Given the description of an element on the screen output the (x, y) to click on. 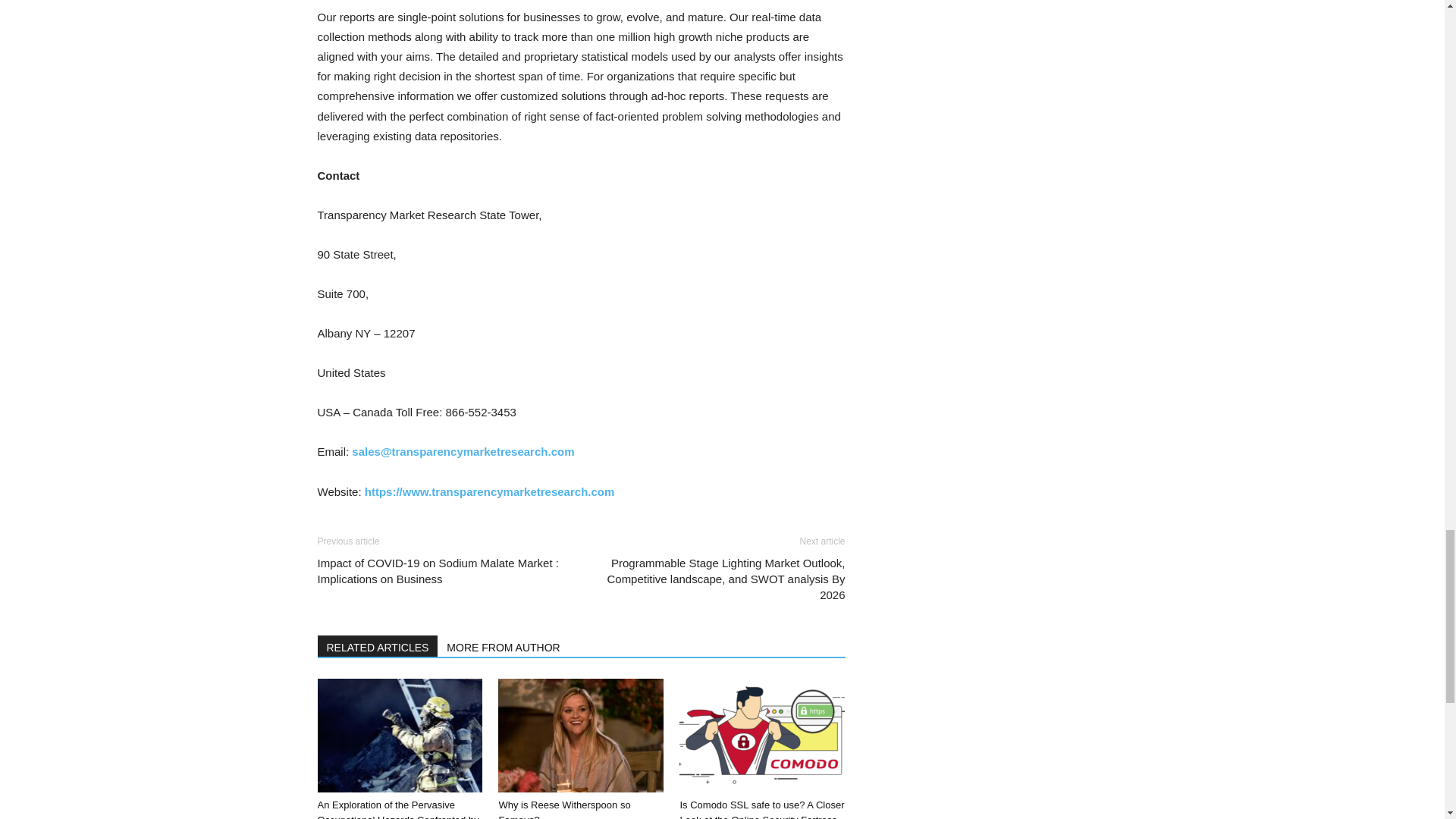
Why is Reese Witherspoon so Famous? (563, 809)
Why is Reese Witherspoon so Famous? (580, 735)
